Given the description of an element on the screen output the (x, y) to click on. 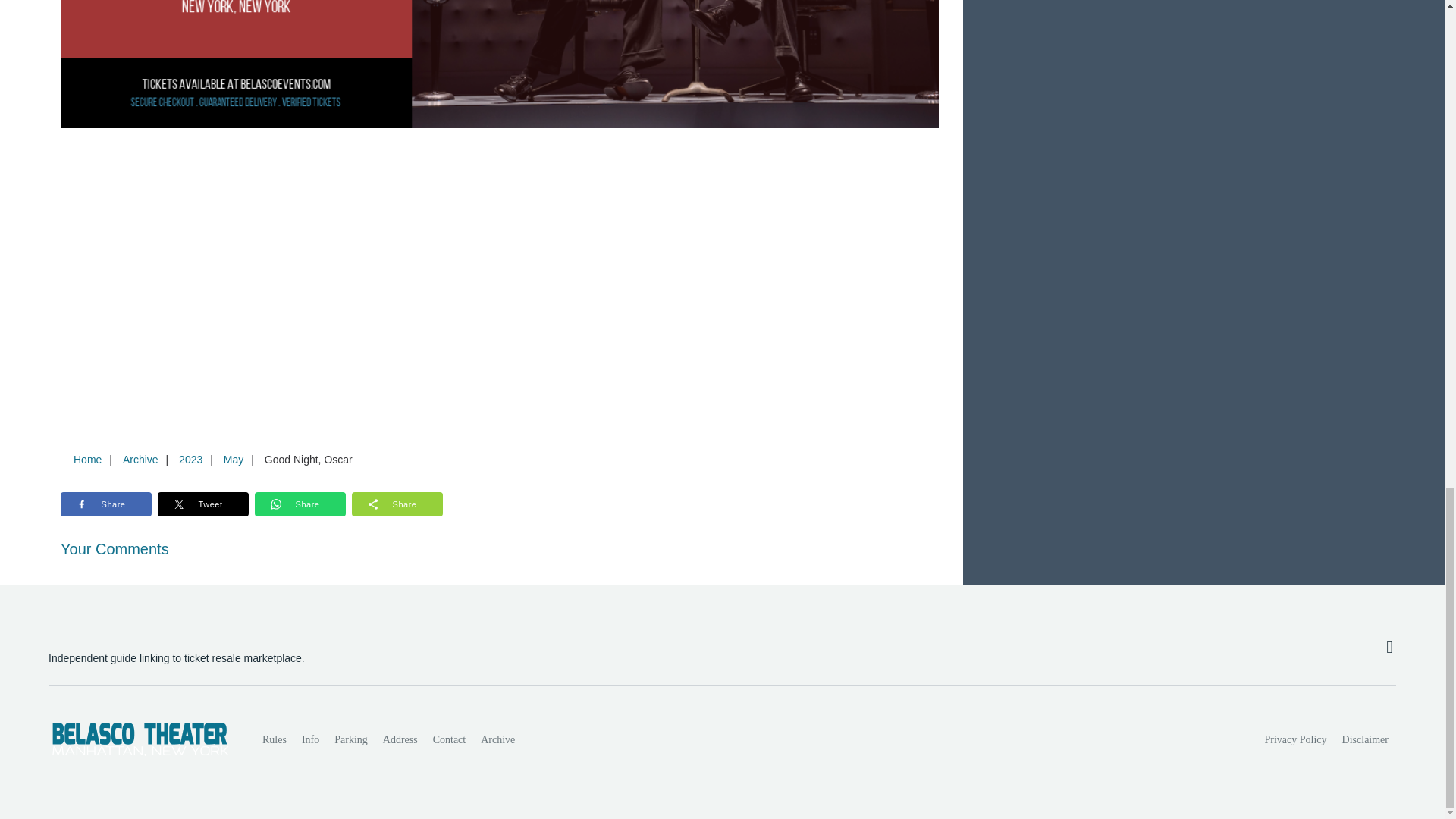
Archive (140, 459)
Info (310, 739)
2023 (190, 459)
Contact (449, 739)
Good Night, Oscar at Belasco Theatre tickets (500, 63)
Home (87, 459)
Disclaimer (1365, 739)
Address (400, 739)
May (232, 459)
Rules (274, 739)
